Given the description of an element on the screen output the (x, y) to click on. 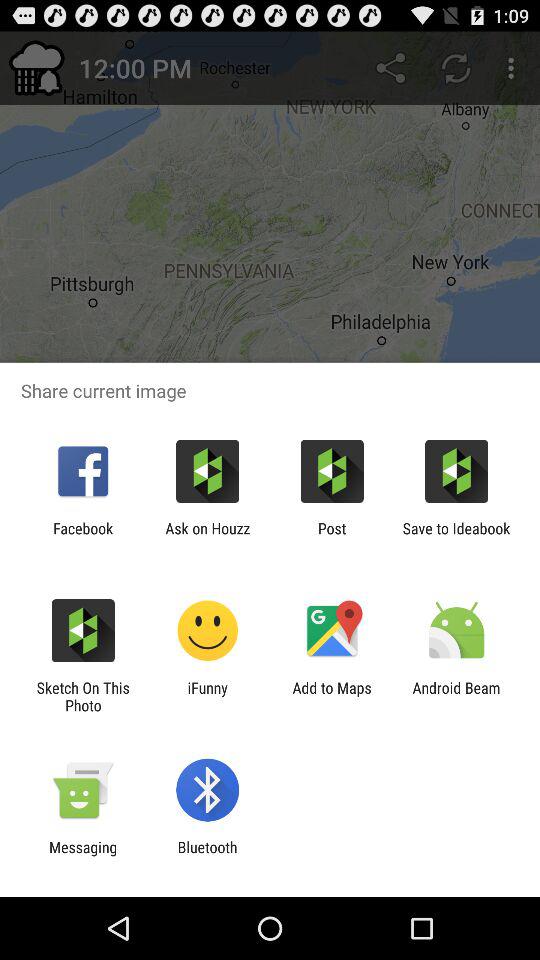
click the item to the right of ifunny app (331, 696)
